Given the description of an element on the screen output the (x, y) to click on. 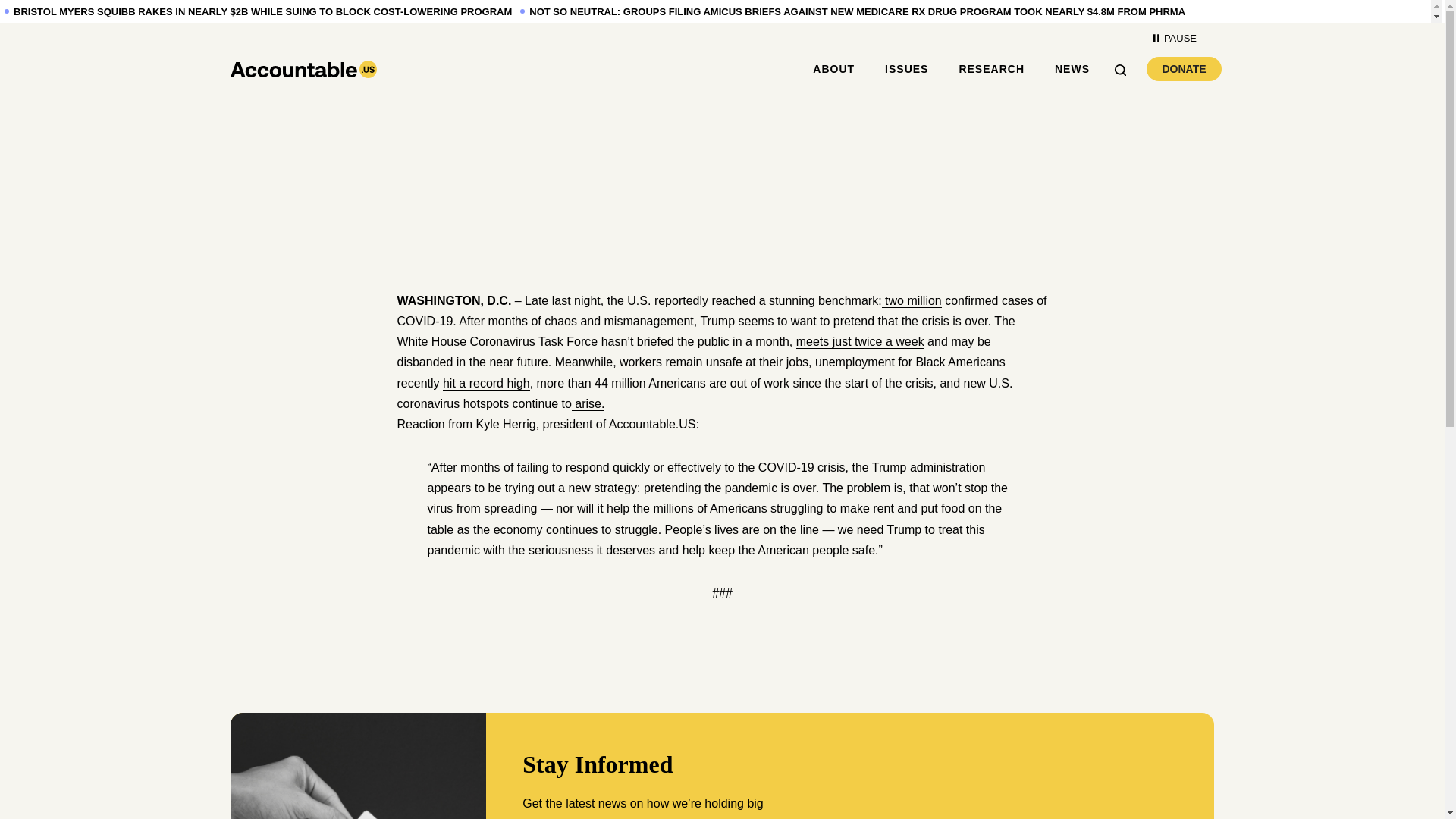
remain unsafe (1184, 68)
PAUSE (702, 362)
hit a record high (1173, 38)
RESEARCH (485, 383)
NEWS (991, 68)
Search (1071, 68)
ISSUES (1125, 68)
meets just twice a week (906, 68)
ABOUT (860, 341)
two million (833, 68)
arise. (912, 300)
